Given the description of an element on the screen output the (x, y) to click on. 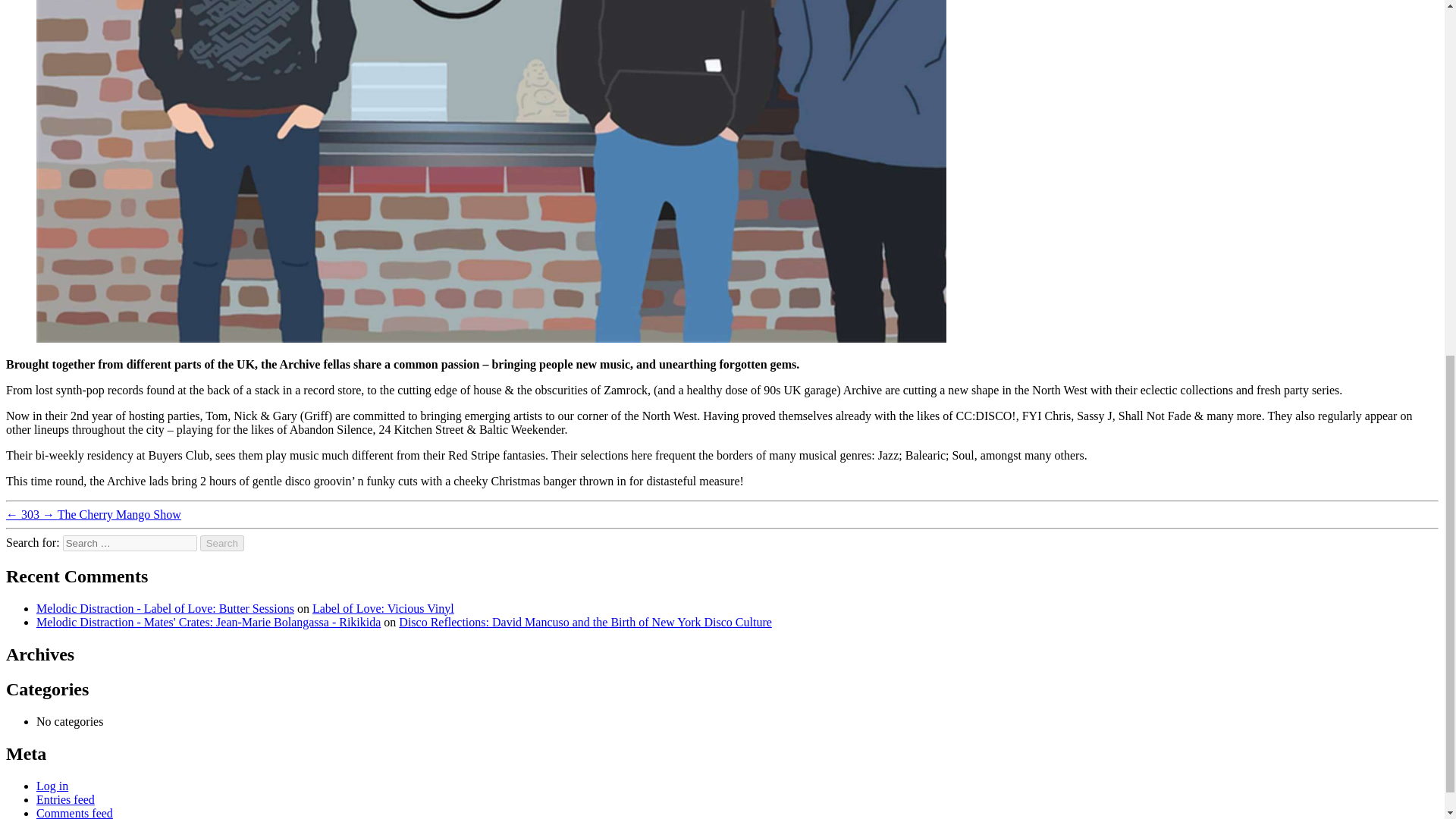
Log in (52, 785)
Search (222, 543)
Label of Love: Vicious Vinyl (383, 608)
Entries feed (65, 799)
Melodic Distraction - Label of Love: Butter Sessions (165, 608)
Search (222, 543)
Search (222, 543)
